Given the description of an element on the screen output the (x, y) to click on. 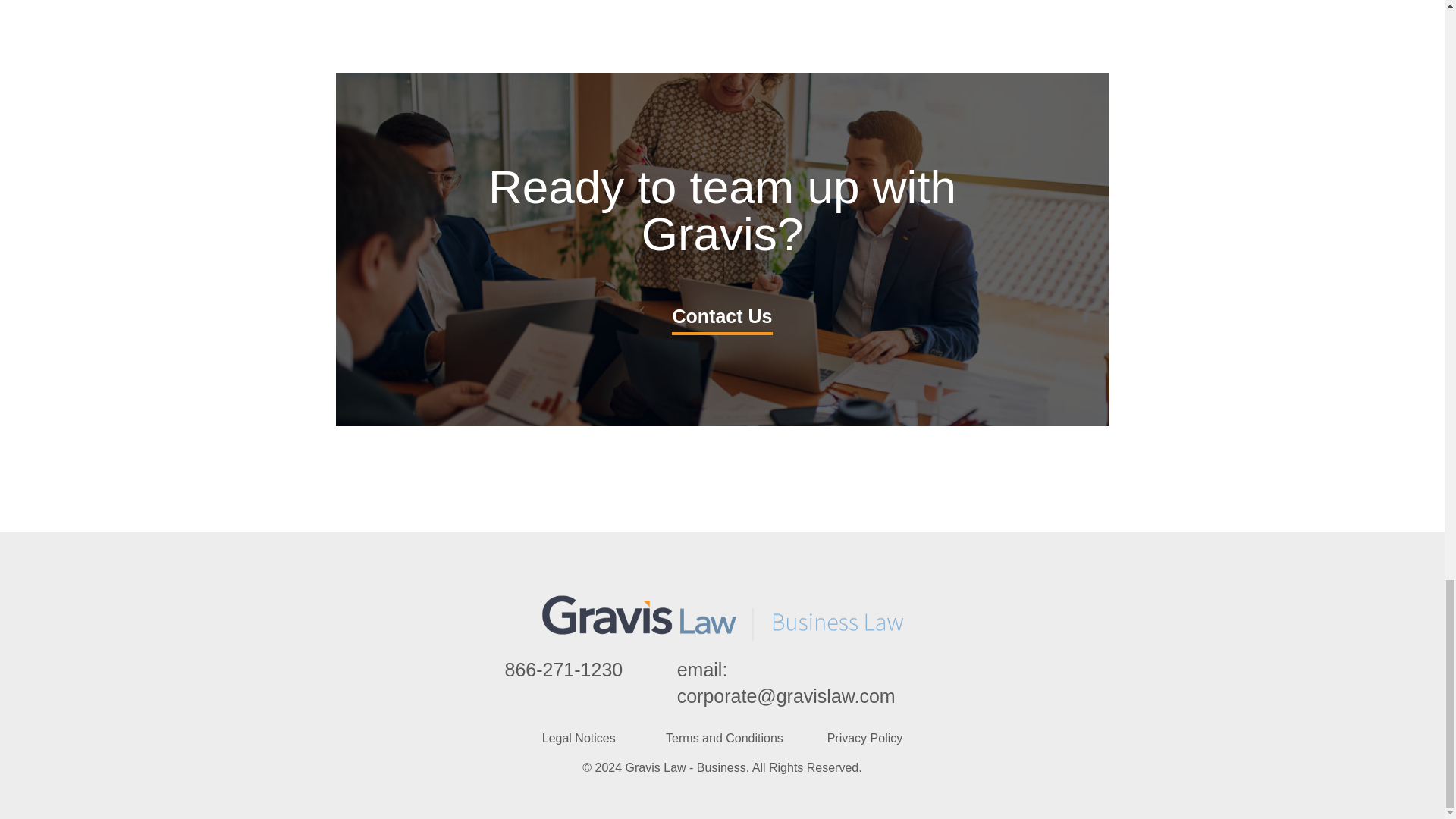
Legal Notices (578, 738)
Terms and Conditions (724, 738)
866-271-1230 (564, 669)
Privacy Policy (864, 738)
Contact Us (722, 317)
